Given the description of an element on the screen output the (x, y) to click on. 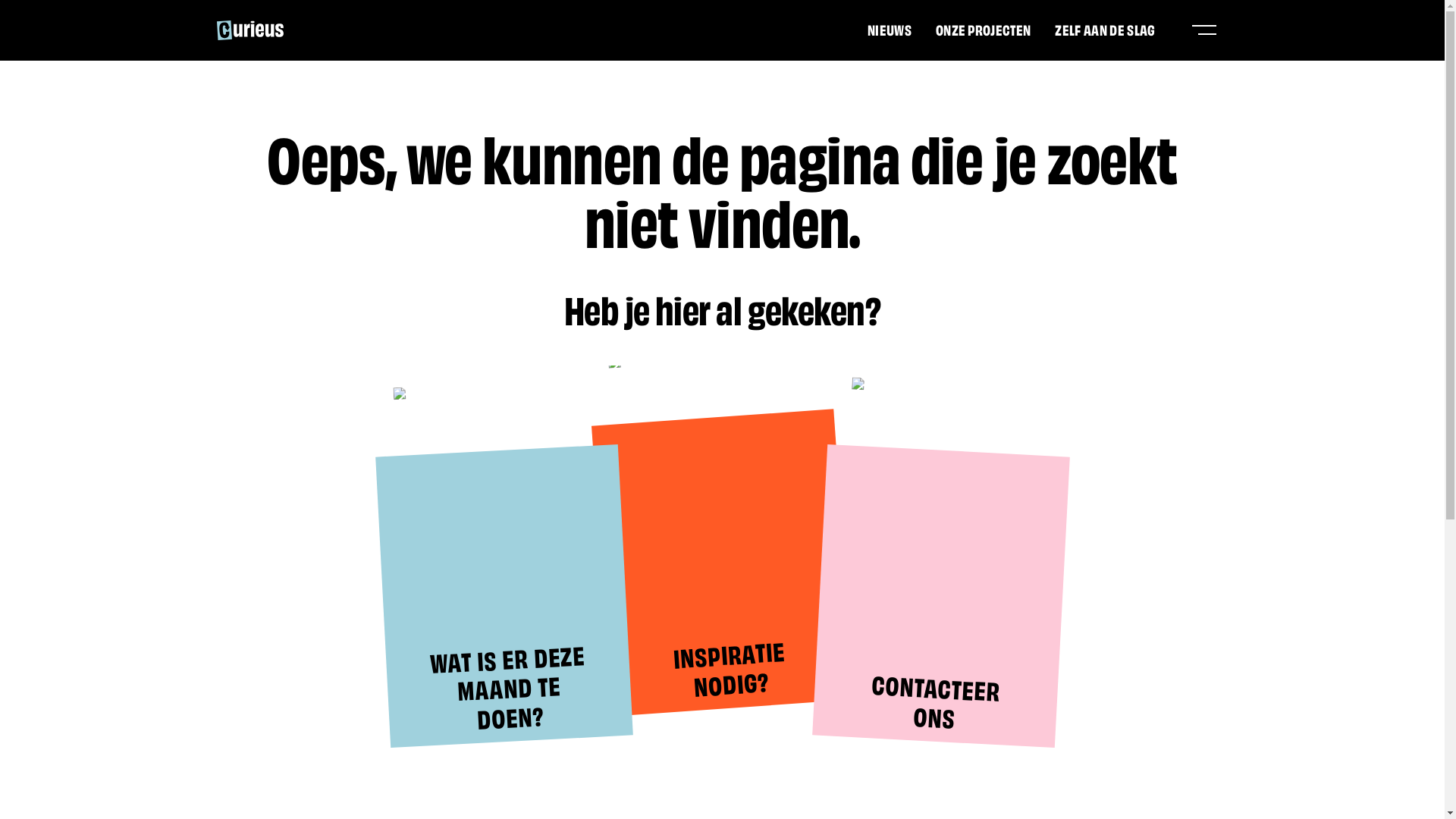
ZELF AAN DE SLAG Element type: text (1104, 28)
ONZE PROJECTEN Element type: text (982, 28)
CONTACTEER ONS Element type: text (933, 588)
WAT IS ER DEZE MAAND TE DOEN? Element type: text (496, 588)
NIEUWS Element type: text (889, 28)
INSPIRATIE NODIG? Element type: text (711, 553)
